Given the description of an element on the screen output the (x, y) to click on. 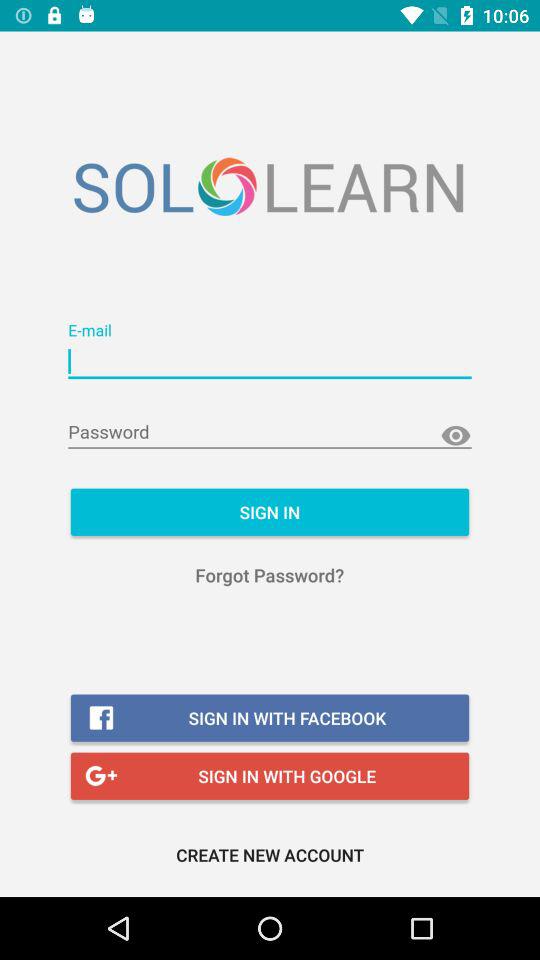
password field (270, 432)
